Given the description of an element on the screen output the (x, y) to click on. 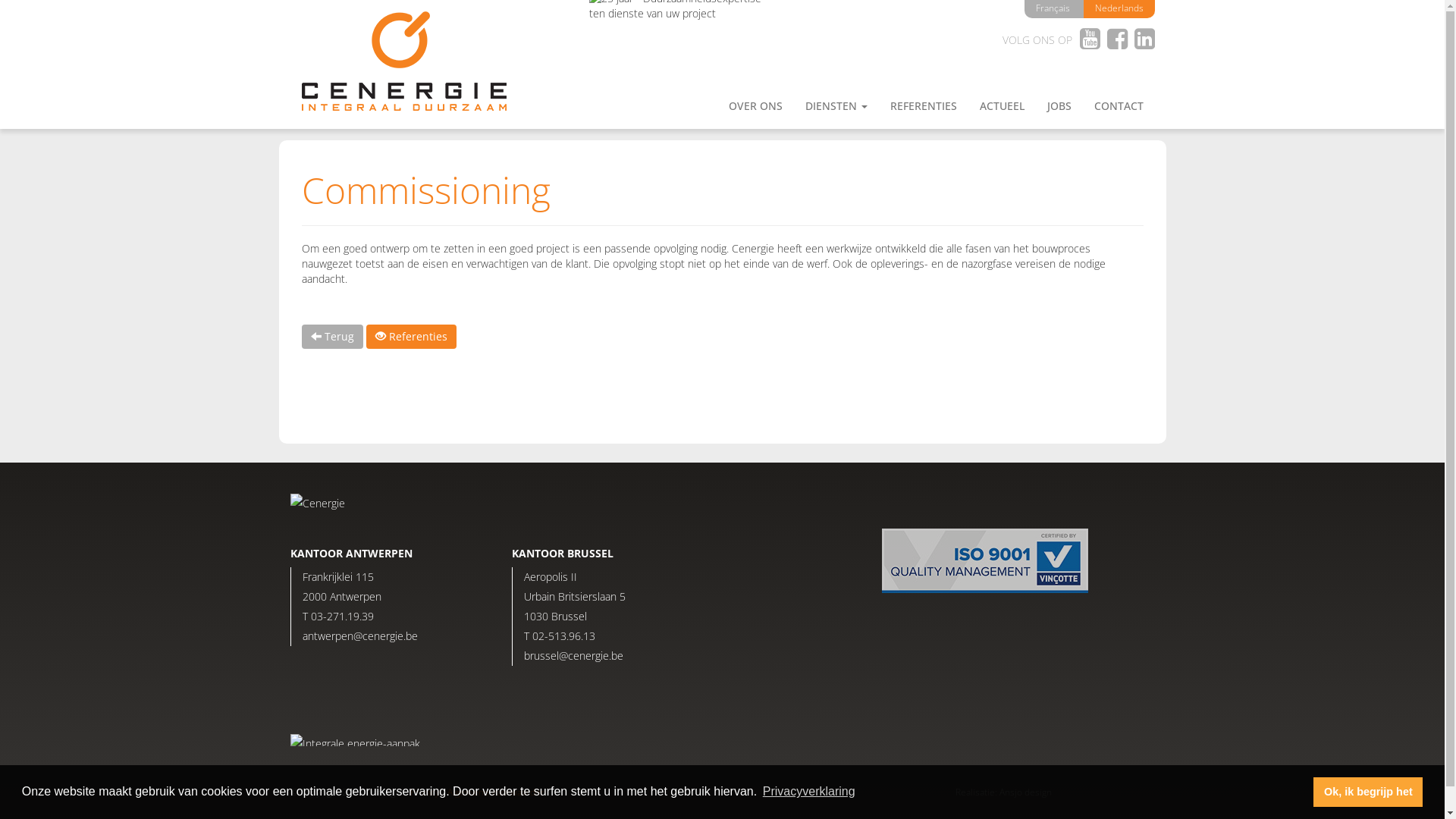
Privacy Element type: text (424, 791)
ACTUEEL Element type: text (1001, 106)
Terug Element type: text (332, 336)
CONTACT Element type: text (1118, 106)
Referenties Element type: text (410, 336)
Algemene voorwaarden Element type: text (496, 791)
DIENSTEN Element type: text (835, 106)
Ansjo design Element type: text (1025, 791)
OVER ONS Element type: text (755, 106)
JOBS Element type: text (1058, 106)
Privacyverklaring Element type: text (808, 791)
Ok, ik begrijp het Element type: text (1367, 791)
REFERENTIES Element type: text (922, 106)
Nederlands Element type: text (1119, 7)
